Given the description of an element on the screen output the (x, y) to click on. 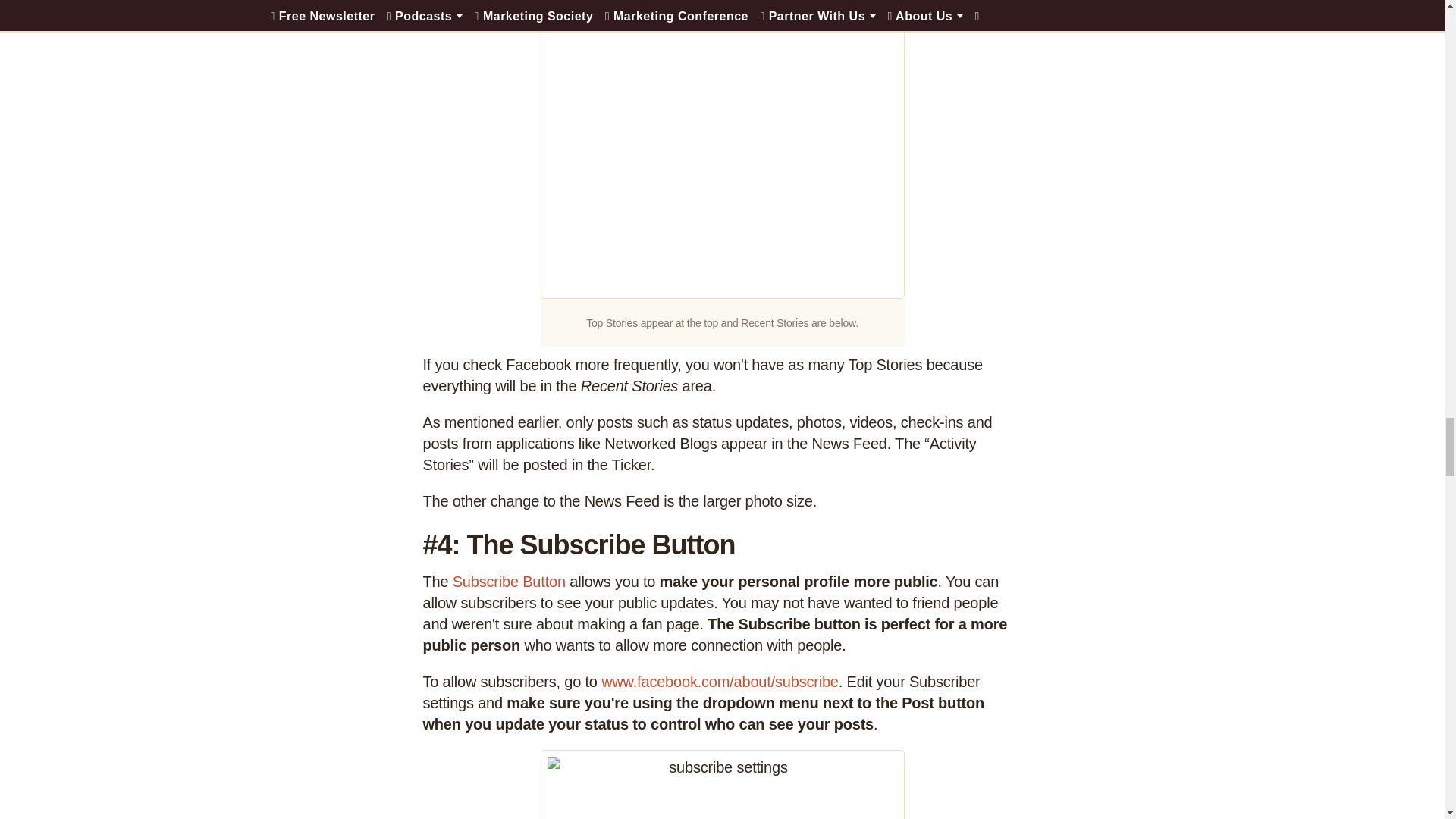
Subscribe Button (509, 581)
